Given the description of an element on the screen output the (x, y) to click on. 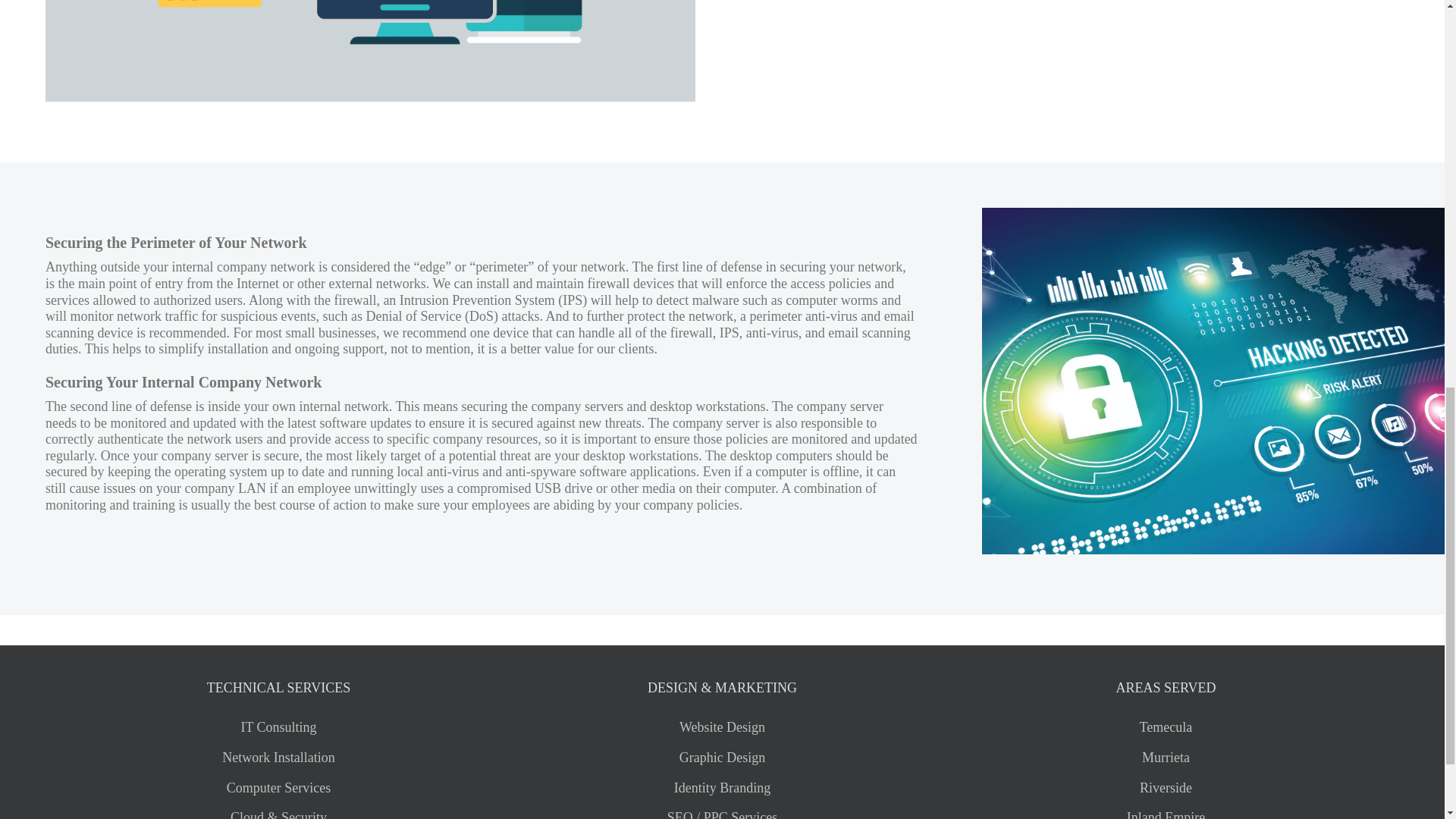
IT-Services-Network-PC-Security-Graphic (369, 31)
